Given the description of an element on the screen output the (x, y) to click on. 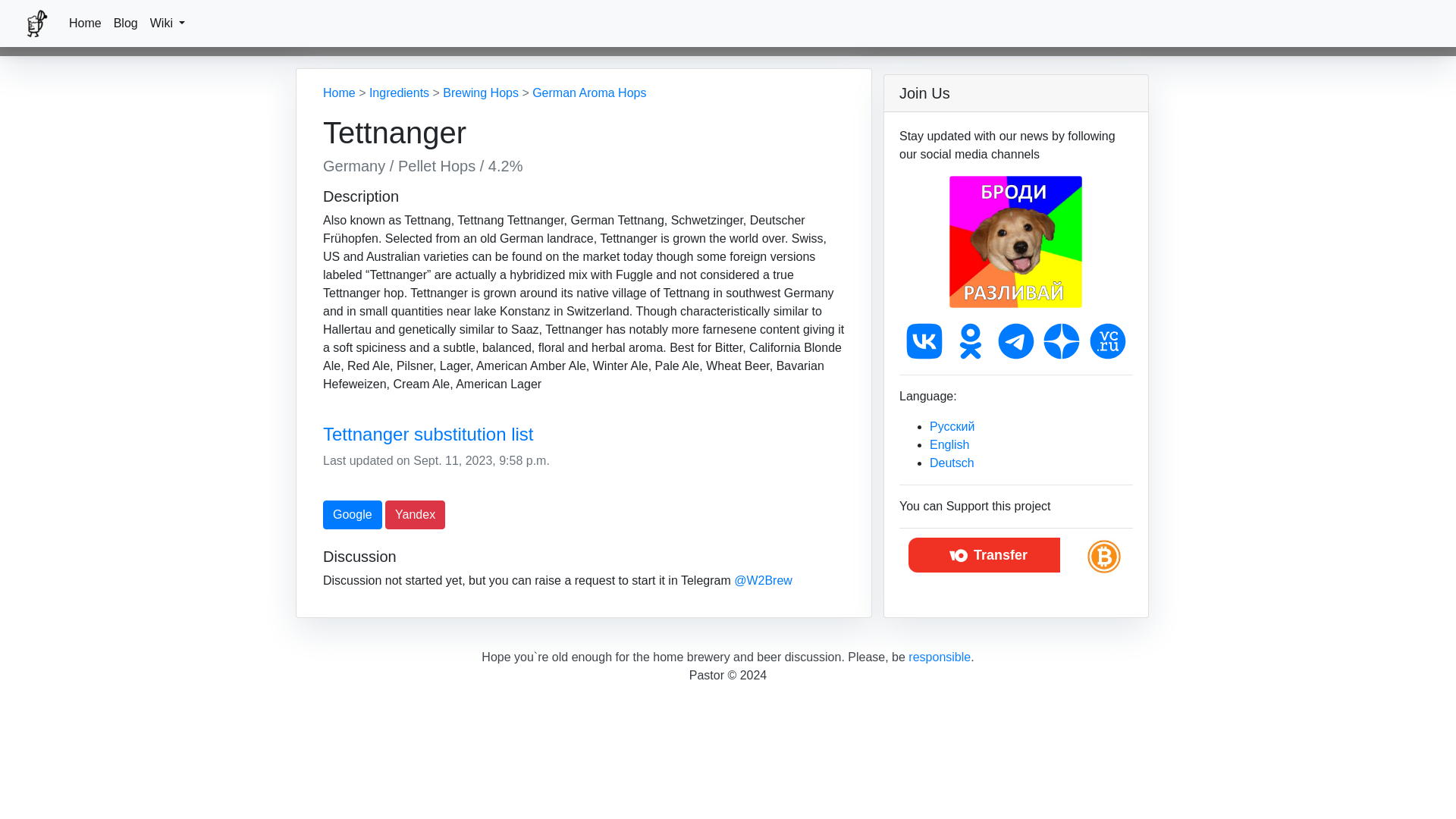
Wiki (168, 23)
Deutsch (952, 462)
Blog (125, 23)
Tettnanger substitution list (583, 434)
Ingredients (399, 92)
Yandex (415, 514)
Home (84, 23)
Home (339, 92)
Brewing Hops (480, 92)
responsible (939, 656)
English (949, 444)
German Aroma Hops (589, 92)
Google (352, 514)
